Given the description of an element on the screen output the (x, y) to click on. 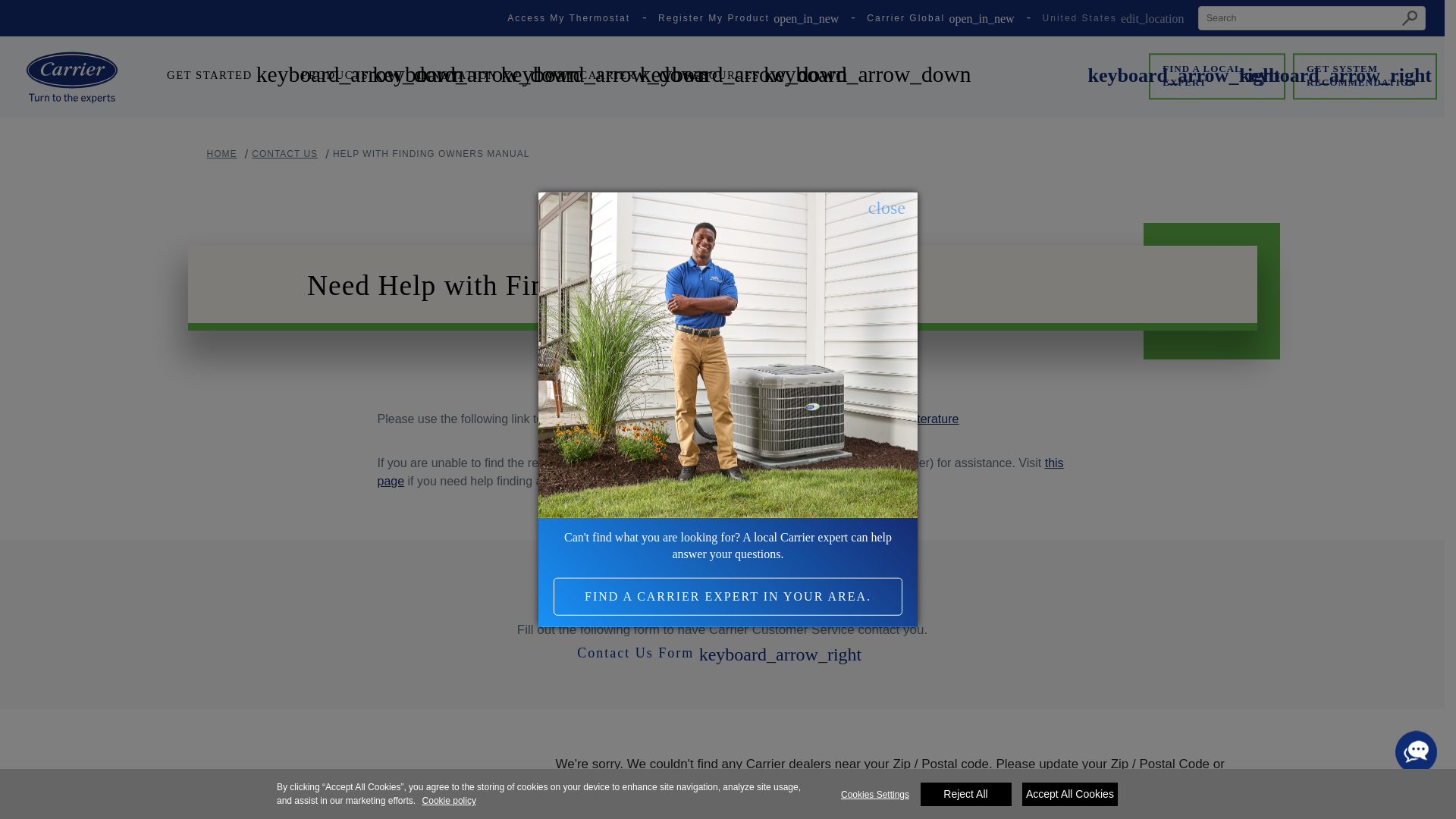
Access My Thermostat (568, 18)
INNOVATION (470, 76)
PRODUCTS (347, 76)
GET STARTED (222, 76)
Submit (1410, 17)
